Given the description of an element on the screen output the (x, y) to click on. 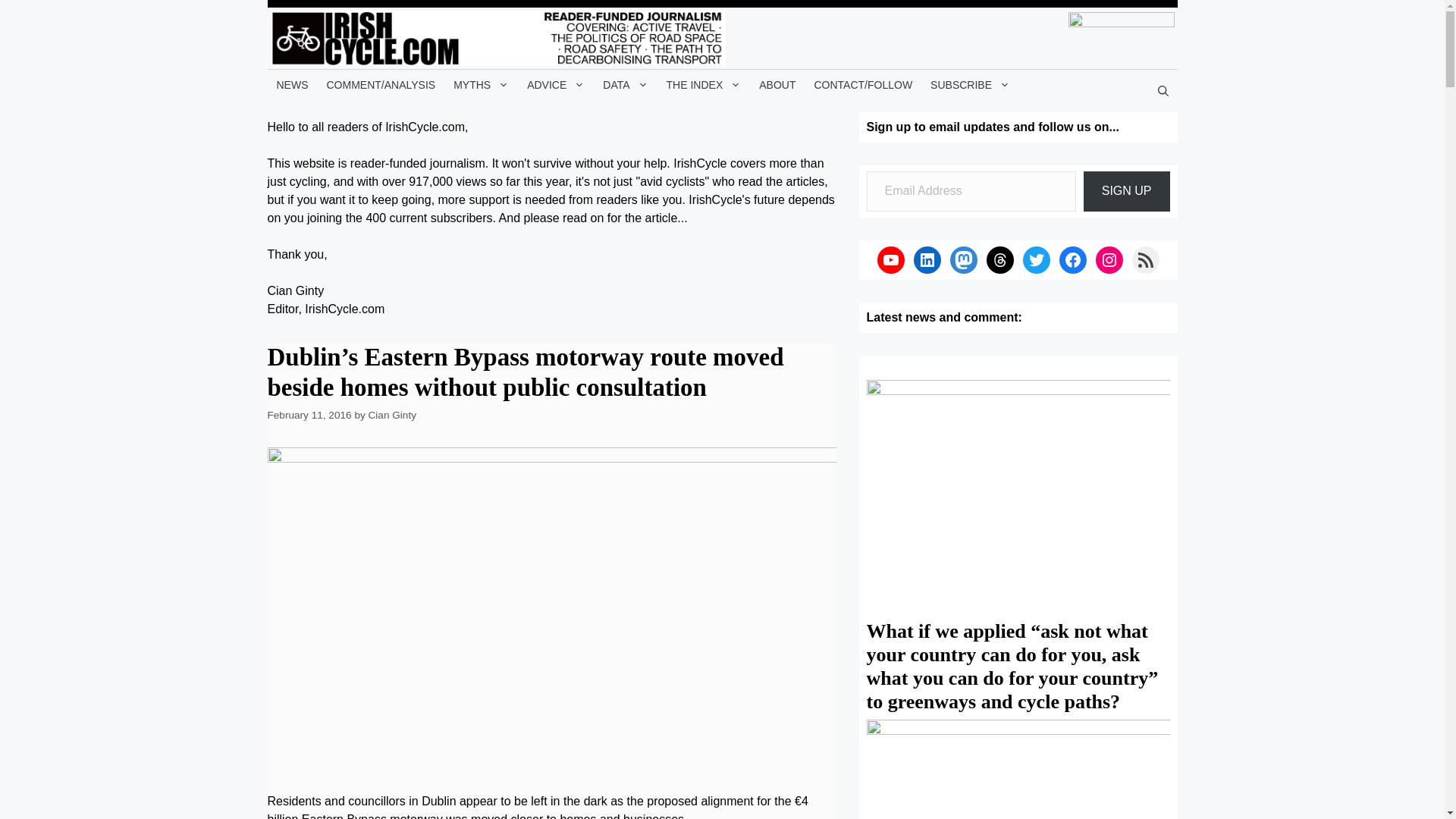
View all posts by Cian Ginty (392, 414)
SUBSCRIBE (970, 84)
Cian Ginty (392, 414)
more support is needed from readers like you. (561, 199)
DATA (625, 84)
ADVICE (556, 84)
Please fill in this field. (970, 191)
NEWS (291, 84)
ABOUT (777, 84)
THE INDEX (704, 84)
MYTHS (481, 84)
